Given the description of an element on the screen output the (x, y) to click on. 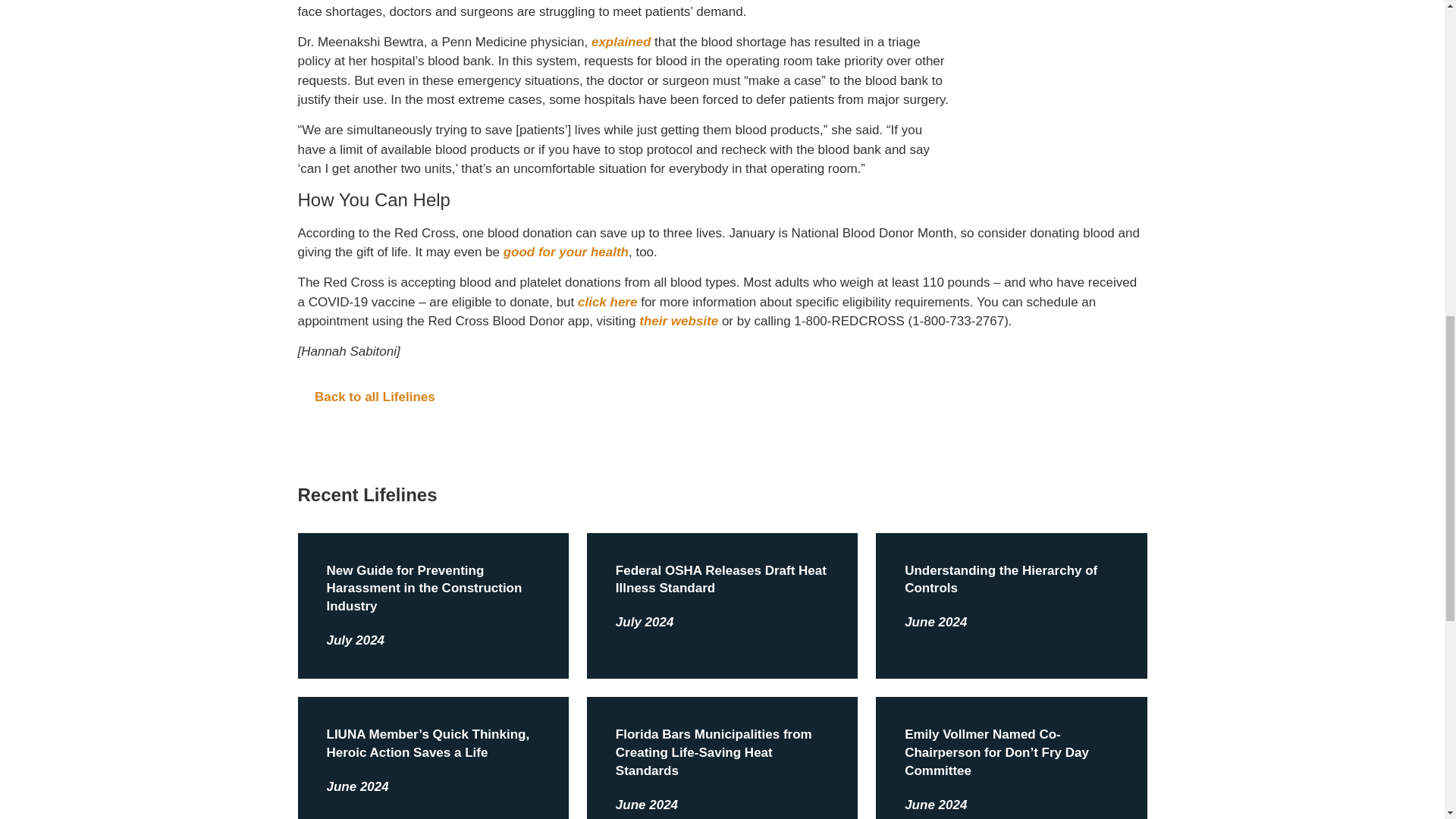
Back to all Lifelines (722, 397)
their website (678, 320)
explained (620, 42)
good for your health (565, 251)
click here (607, 301)
Federal OSHA Releases Draft Heat Illness Standard (721, 579)
